Given the description of an element on the screen output the (x, y) to click on. 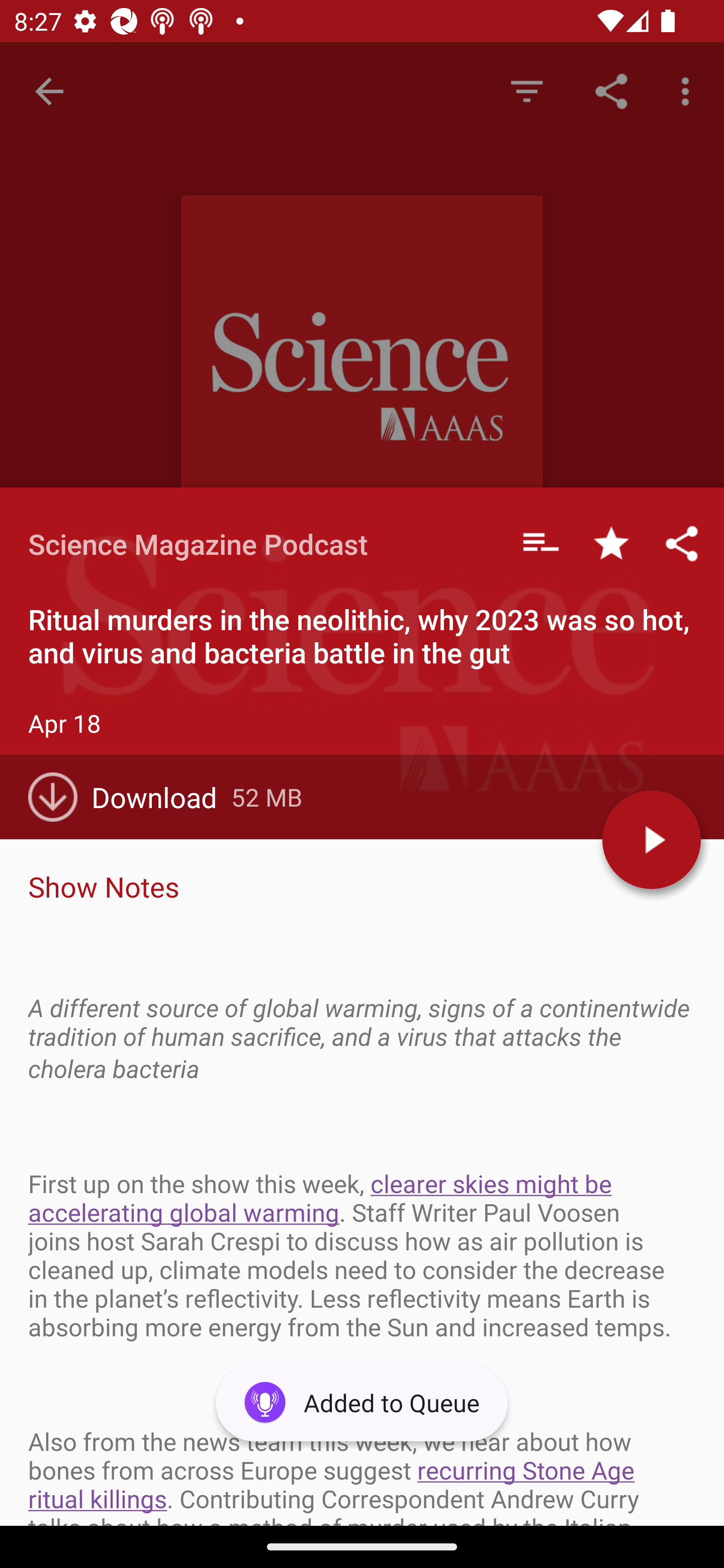
Navigate up (49, 91)
Hide Episodes (526, 90)
Share Link (611, 90)
More options (688, 90)
Download (129, 797)
